Given the description of an element on the screen output the (x, y) to click on. 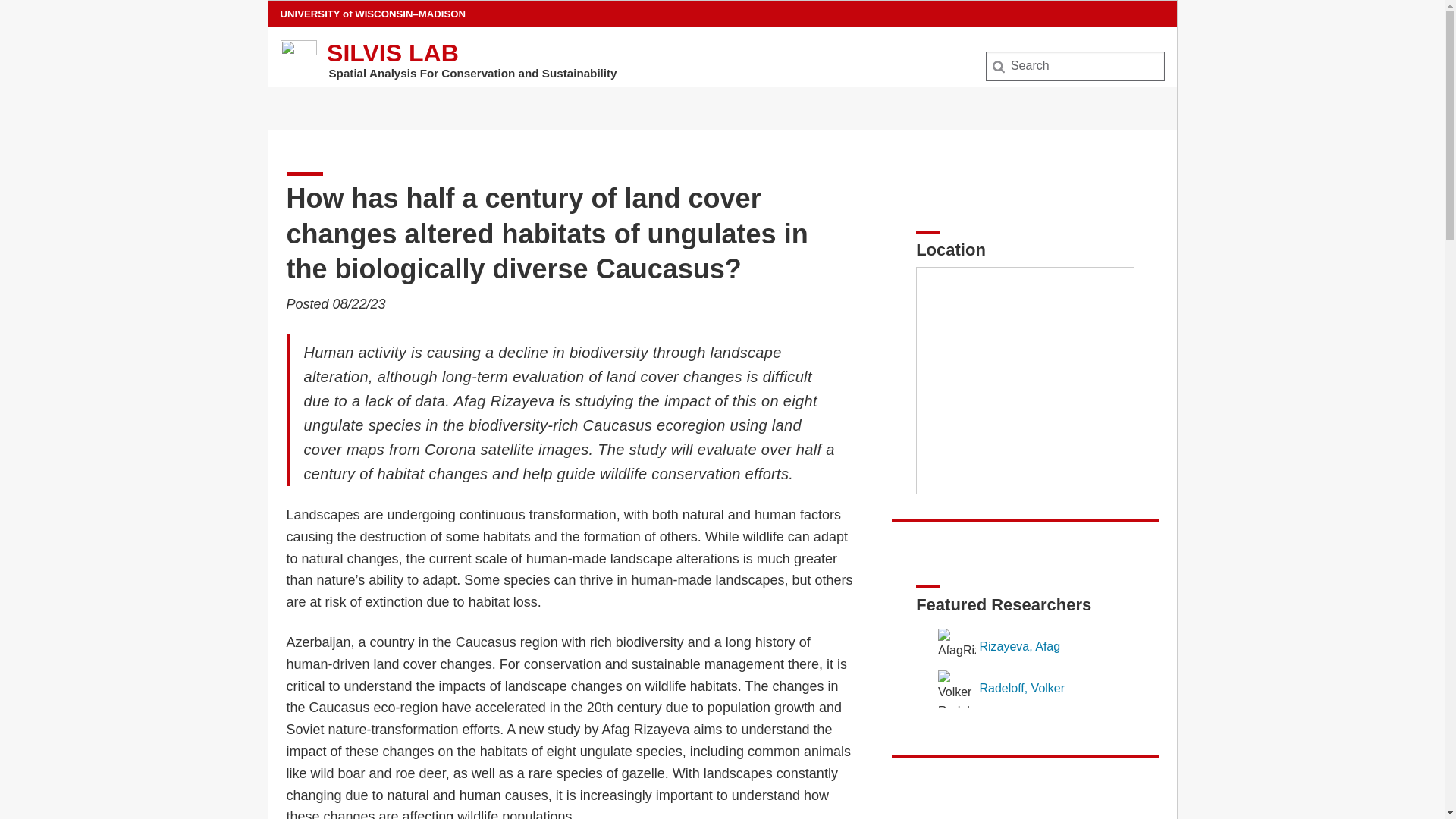
Skip to main content (271, 4)
SILVIS LAB (392, 52)
Search (37, 16)
